Given the description of an element on the screen output the (x, y) to click on. 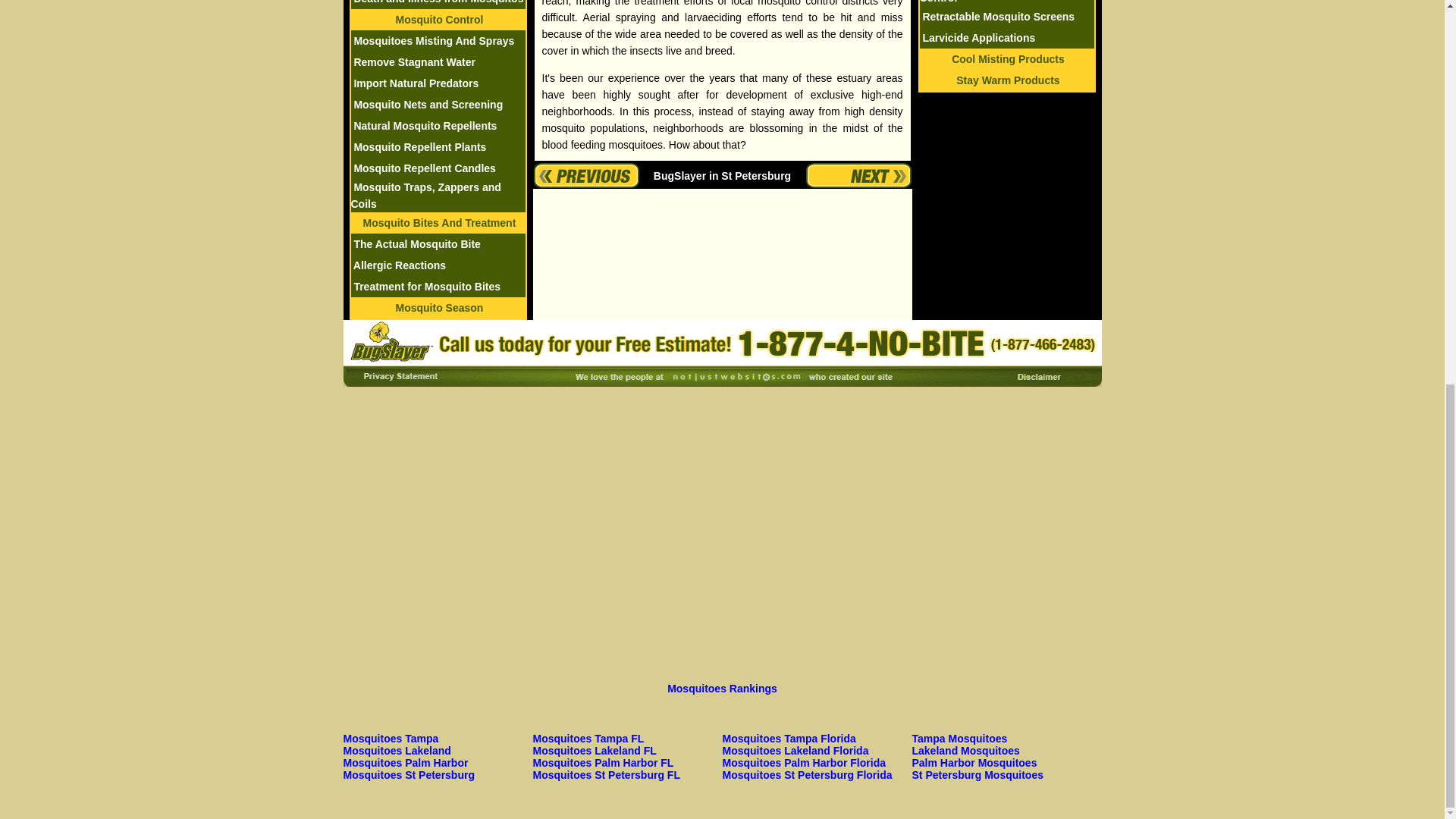
 Mosquito Traps, Zappers and Coils (425, 194)
 Mosquito Repellent Plants (418, 146)
 Mosquito Bites And Treatment (437, 223)
 Mosquito Nets and Screening (426, 104)
 Death and Illness from Mosquitos (436, 2)
 Import Natural Predators (414, 82)
 Mosquitoes Misting And Sprays (431, 40)
 Mosquito Repellent Candles (422, 168)
 Natural Mosquito Repellents (423, 125)
 Mosquito Control (438, 19)
